Given the description of an element on the screen output the (x, y) to click on. 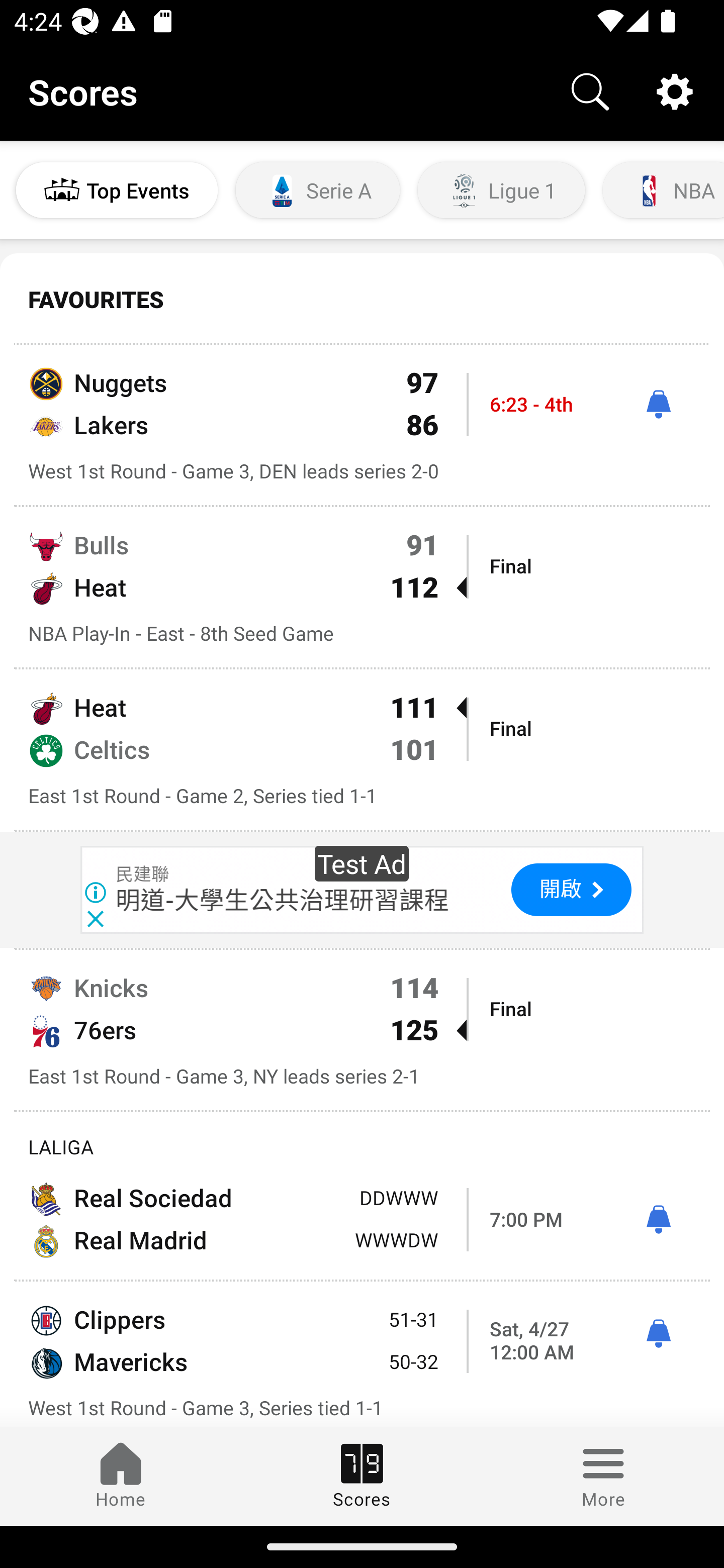
Search (590, 90)
Settings (674, 90)
 Top Events (116, 190)
Serie A (317, 190)
Ligue 1 (500, 190)
NBA (661, 190)
FAVOURITES (362, 299)
ì (658, 404)
ì (658, 1219)
ì (658, 1334)
Home (120, 1475)
More (603, 1475)
